Given the description of an element on the screen output the (x, y) to click on. 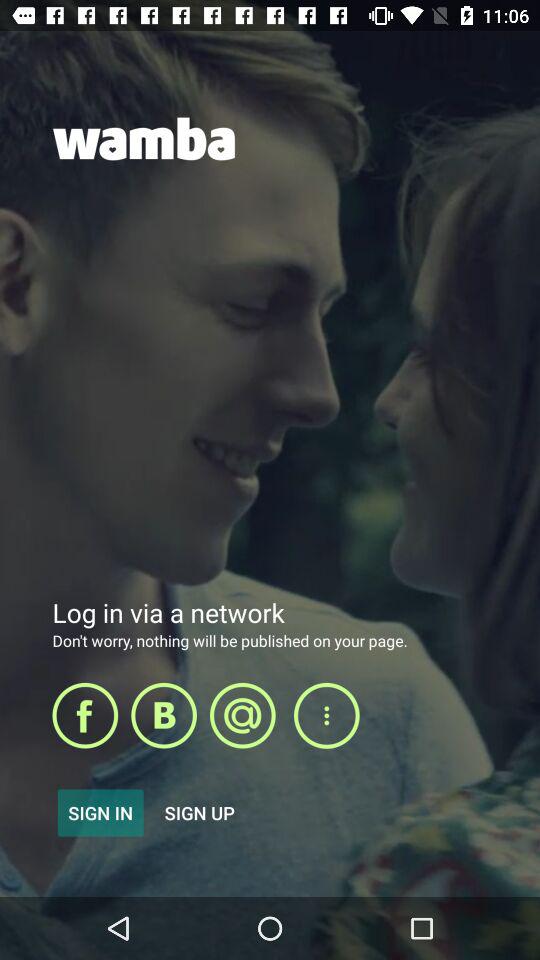
more options (326, 716)
